Given the description of an element on the screen output the (x, y) to click on. 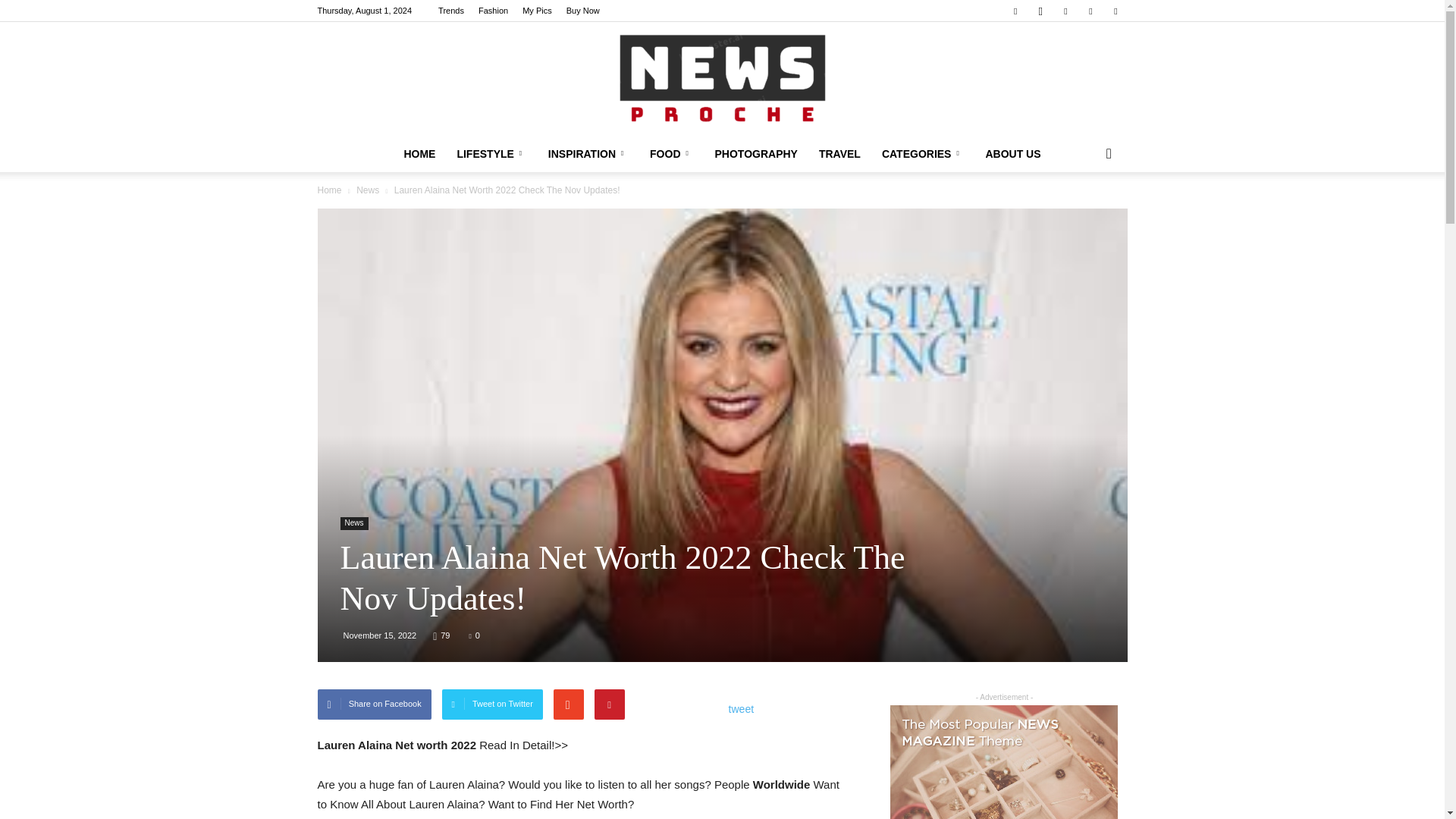
Pinterest (1065, 10)
Buy Now (582, 10)
LIFESTYLE (491, 153)
Tumblr (1090, 10)
Facebook (1015, 10)
Instagram (1040, 10)
My Pics (536, 10)
Fashion (493, 10)
Trends (451, 10)
HOME (419, 153)
Twitter (1114, 10)
